Given the description of an element on the screen output the (x, y) to click on. 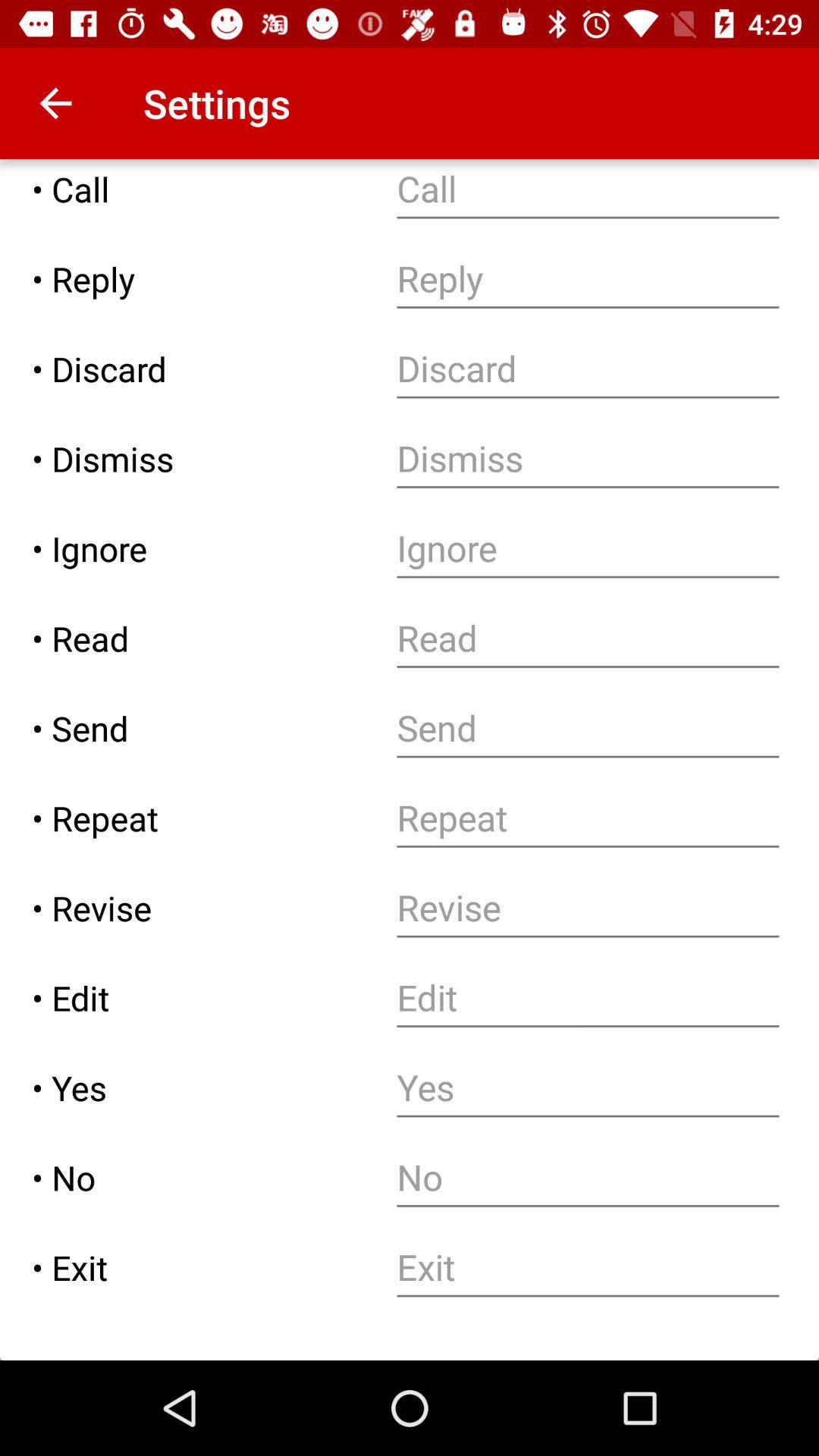
text entry box (588, 908)
